Given the description of an element on the screen output the (x, y) to click on. 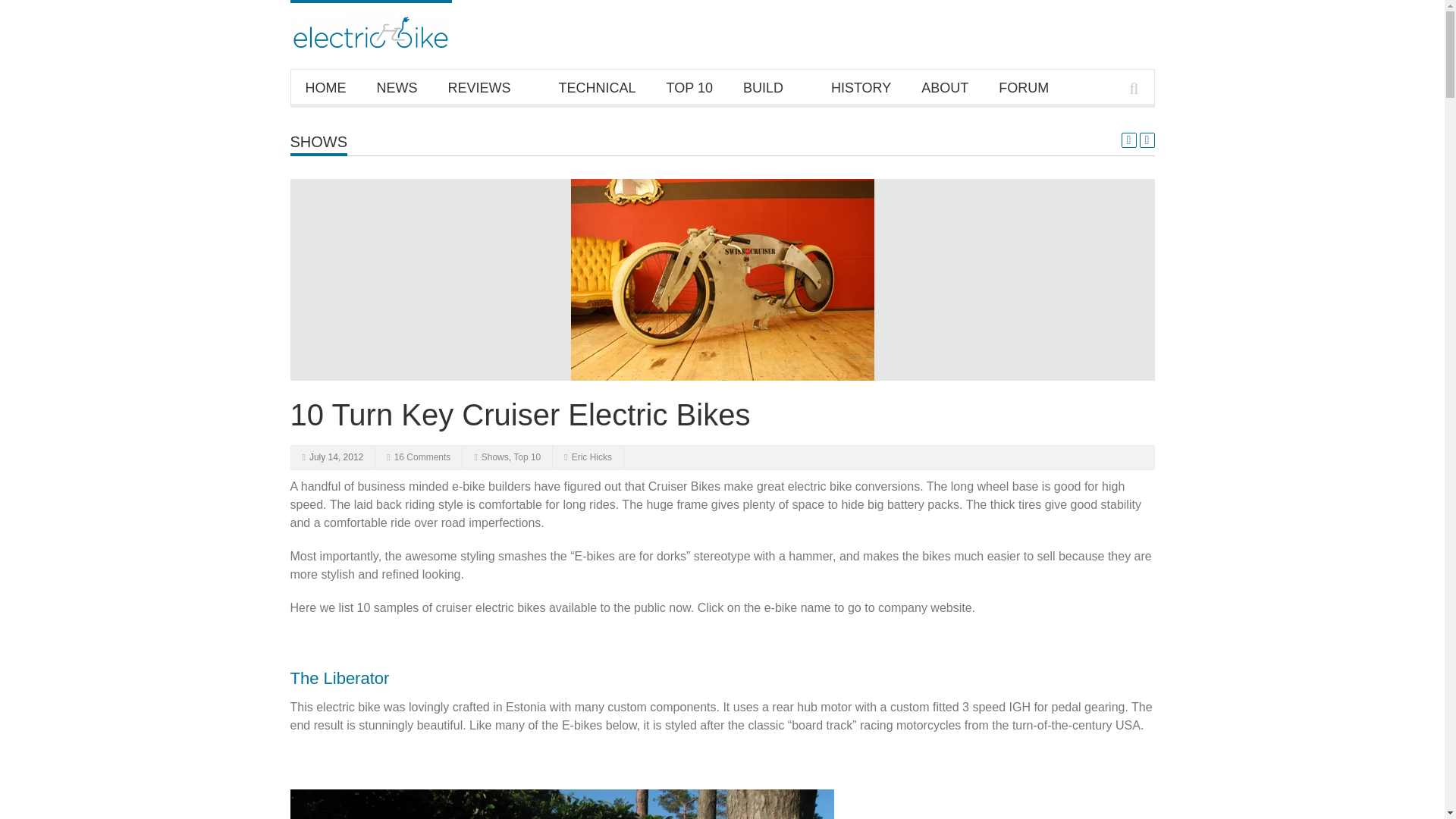
HOME (325, 87)
ABOUT (944, 87)
HISTORY (860, 87)
SHOWS (318, 141)
Posts by Eric Hicks (591, 457)
Top 10 (526, 457)
TECHNICAL (596, 87)
Shows (494, 457)
16 Comments (422, 457)
FORUM (1024, 87)
Eric Hicks (591, 457)
The Liberator (338, 678)
NEWS (396, 87)
TOP 10 (689, 87)
shows (318, 141)
